Given the description of an element on the screen output the (x, y) to click on. 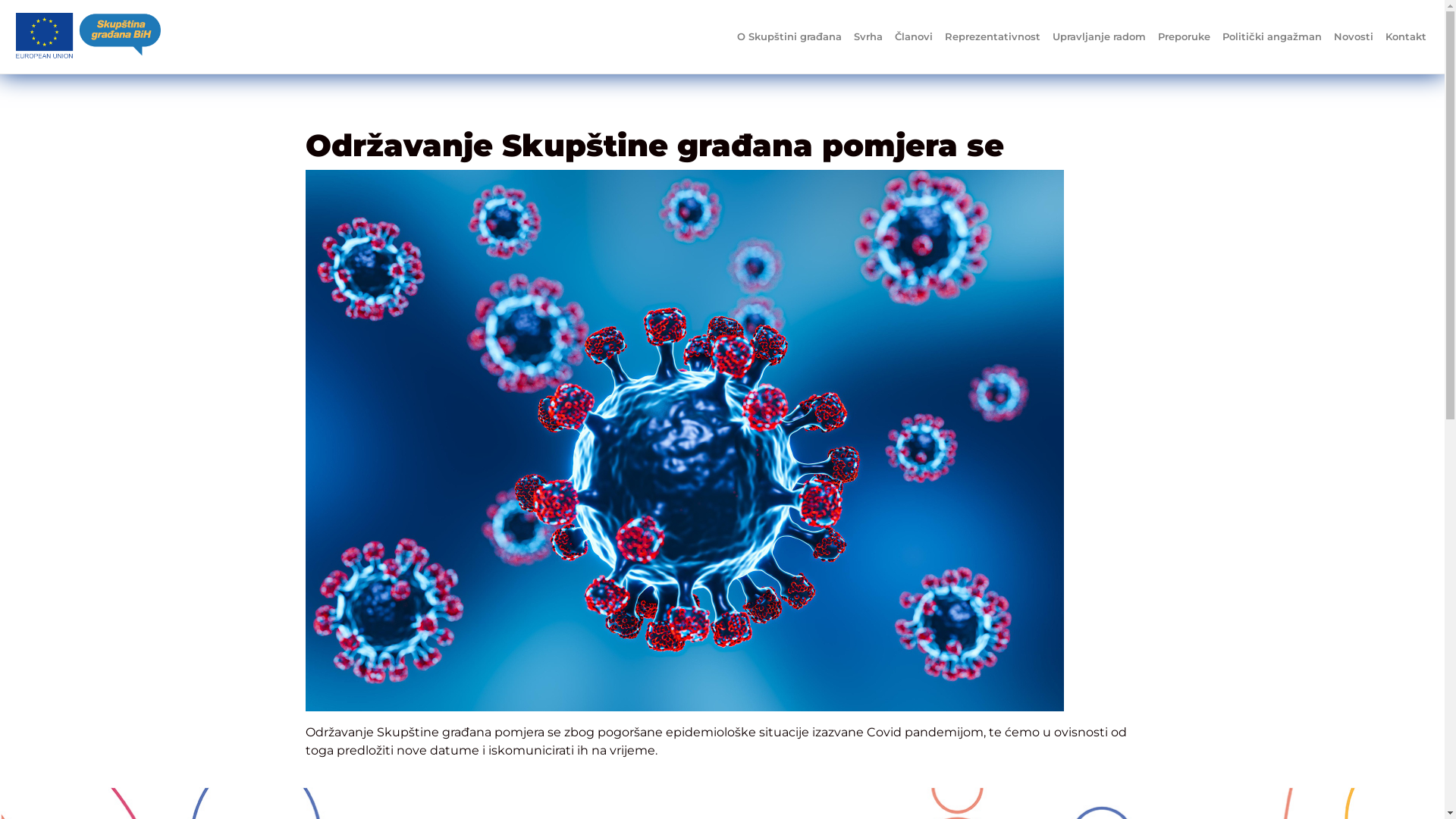
Kontakt Element type: text (1405, 36)
Reprezentativnost Element type: text (992, 36)
Upravljanje radom Element type: text (1098, 36)
Novosti Element type: text (1353, 36)
Preporuke Element type: text (1183, 36)
Svrha Element type: text (867, 36)
